Given the description of an element on the screen output the (x, y) to click on. 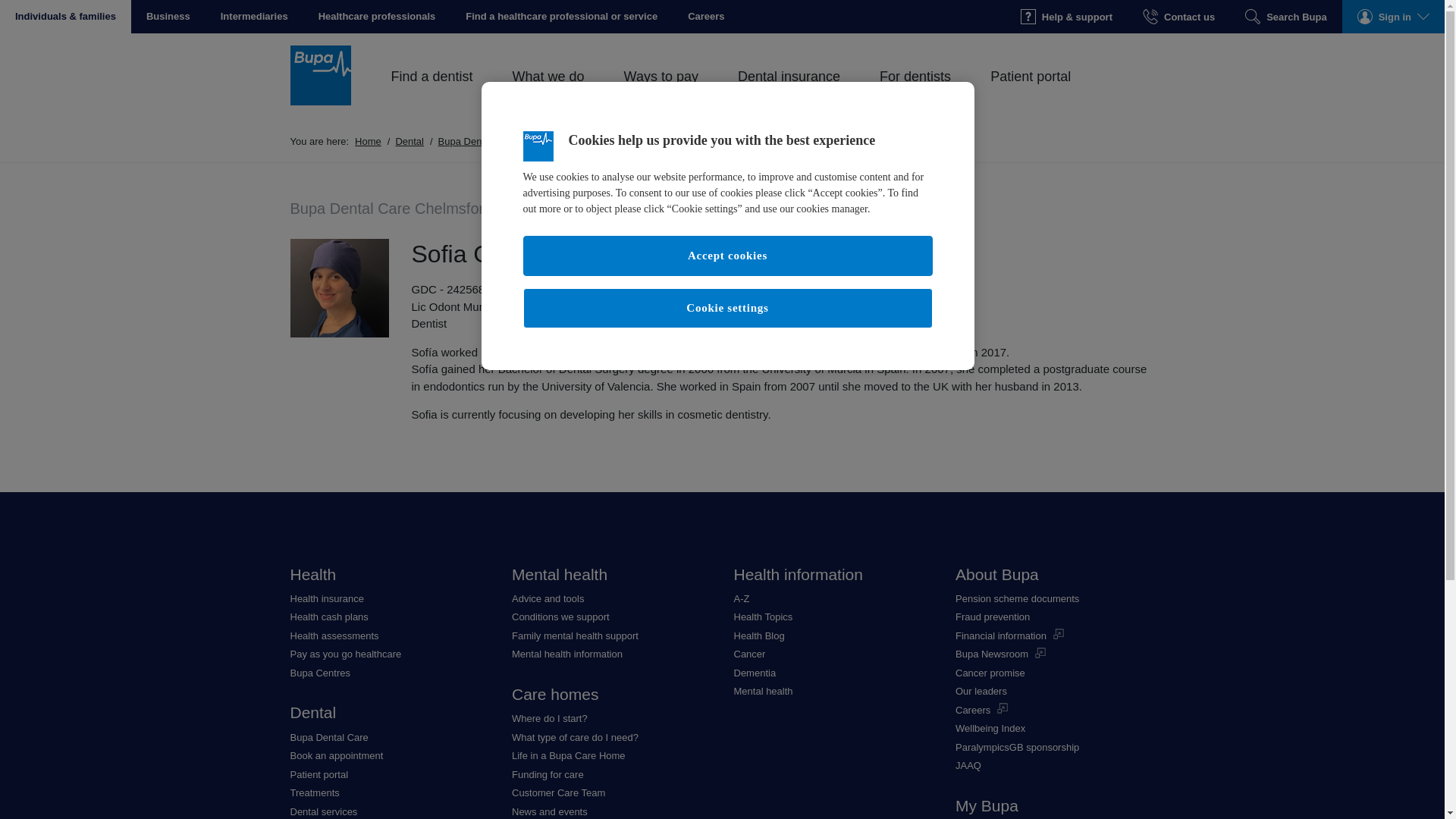
opens in a new window (560, 16)
Opens in a new window (705, 16)
Healthcare professionals (376, 16)
Find a healthcare professional or service (560, 16)
Ways to pay (660, 92)
Find a dentist (432, 92)
Business (168, 16)
Intermediaries (253, 16)
Dental insurance (788, 92)
Careers (705, 16)
For dentists (915, 92)
What we do (548, 92)
Search Bupa (1285, 16)
Patient portal (1030, 92)
Contact us (1178, 16)
